Given the description of an element on the screen output the (x, y) to click on. 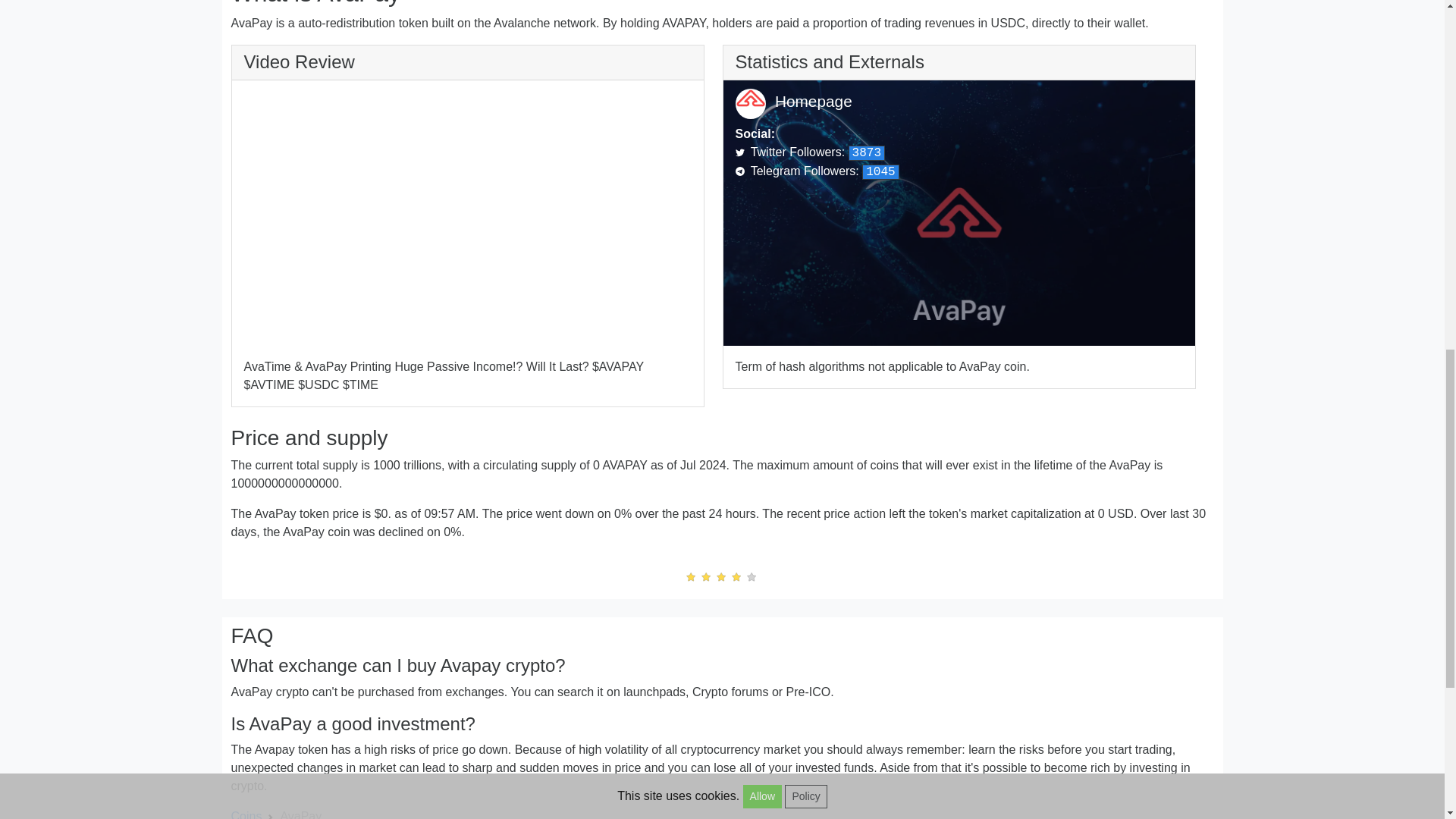
Link to Project AvaPay Homepage (812, 100)
Coins (246, 814)
Telegram Followers: 1045 (817, 170)
Twitter Followers: 3873 (810, 151)
Link to Telegram Channel (817, 170)
Homepage (812, 100)
Link to Twitter (810, 151)
